Given the description of an element on the screen output the (x, y) to click on. 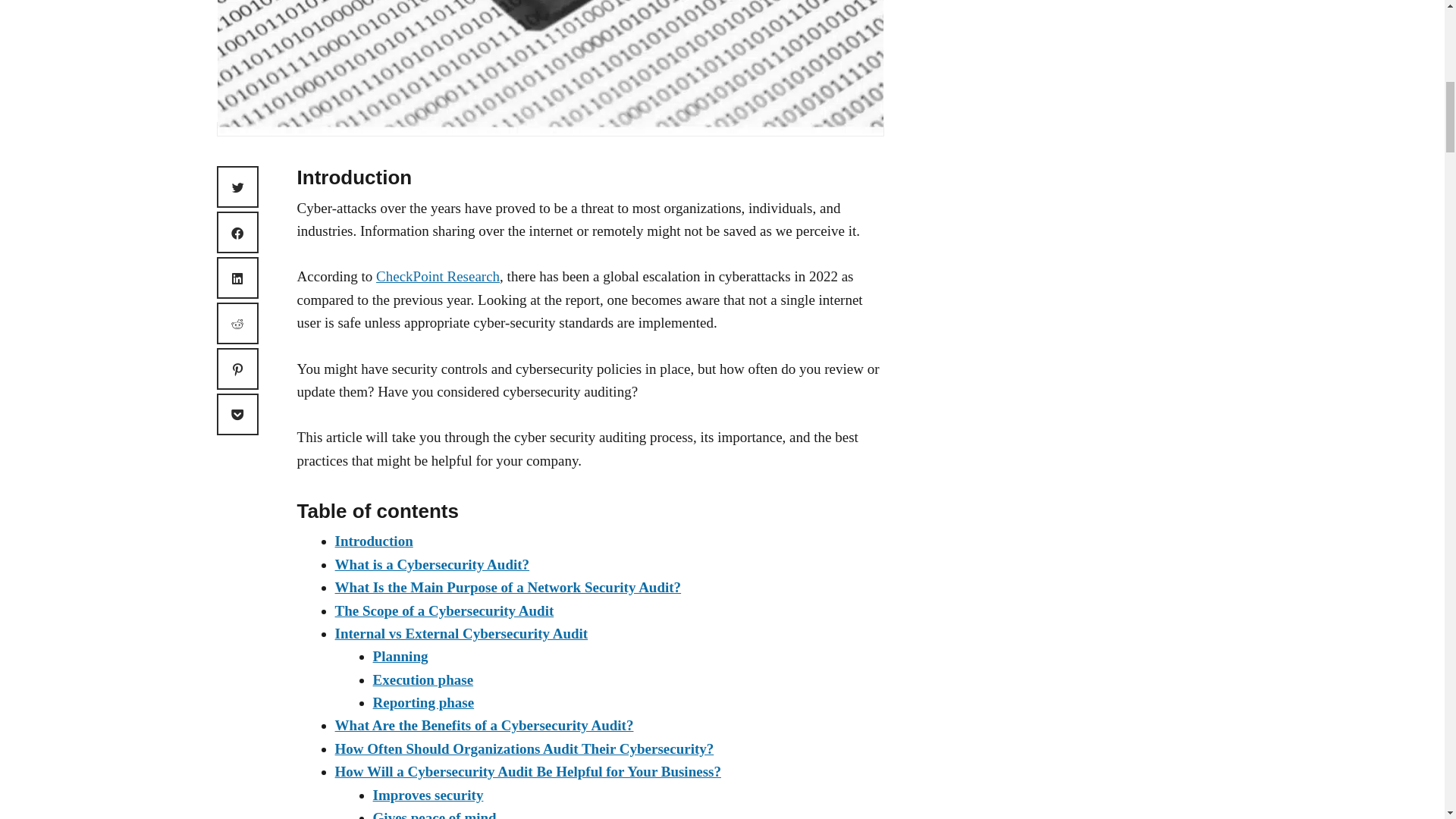
Click to share on LinkedIn (237, 277)
CheckPoint Research (437, 276)
Introduction (373, 540)
Click to share on Twitter (237, 187)
What Are the Benefits of a Cybersecurity Audit? (483, 725)
Click to share on Reddit (237, 322)
What Is the Main Purpose of a Network Security Audit? (507, 587)
Gives peace of mind (434, 814)
How Often Should Organizations Audit Their Cybersecurity? (524, 748)
The Scope of a Cybersecurity Audit (444, 610)
